Given the description of an element on the screen output the (x, y) to click on. 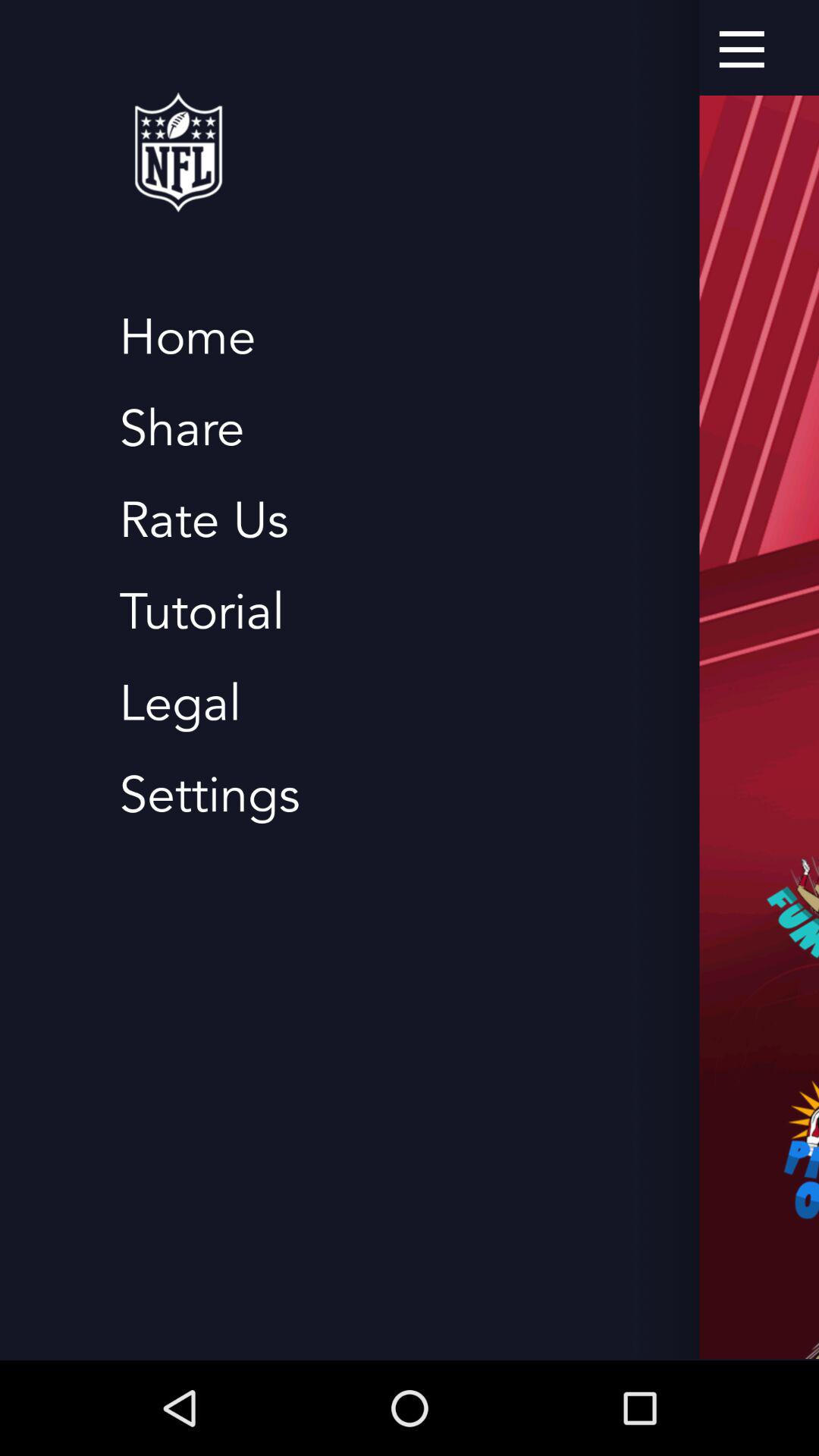
open app below the home icon (181, 429)
